Given the description of an element on the screen output the (x, y) to click on. 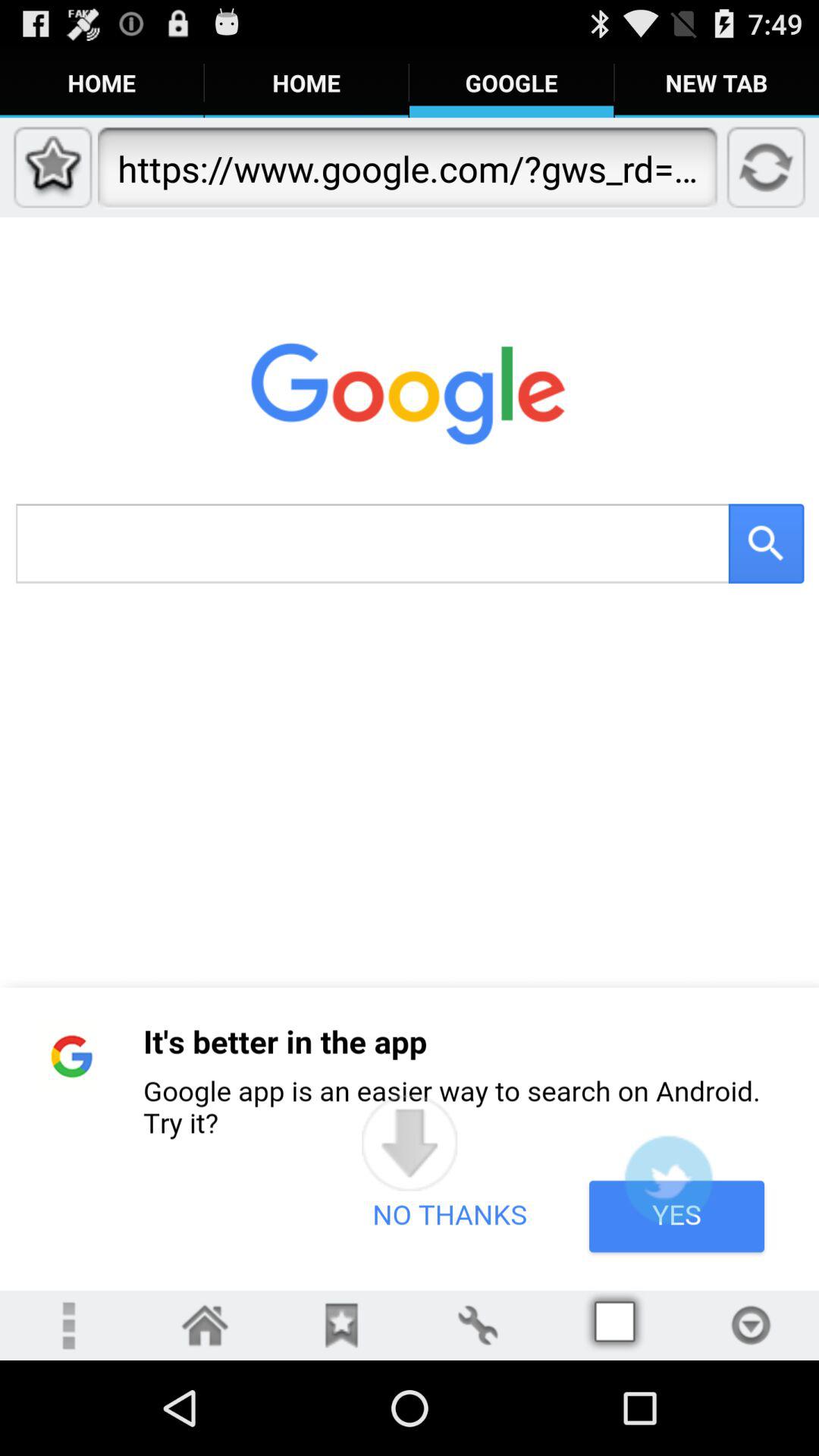
open menu (68, 1325)
